Given the description of an element on the screen output the (x, y) to click on. 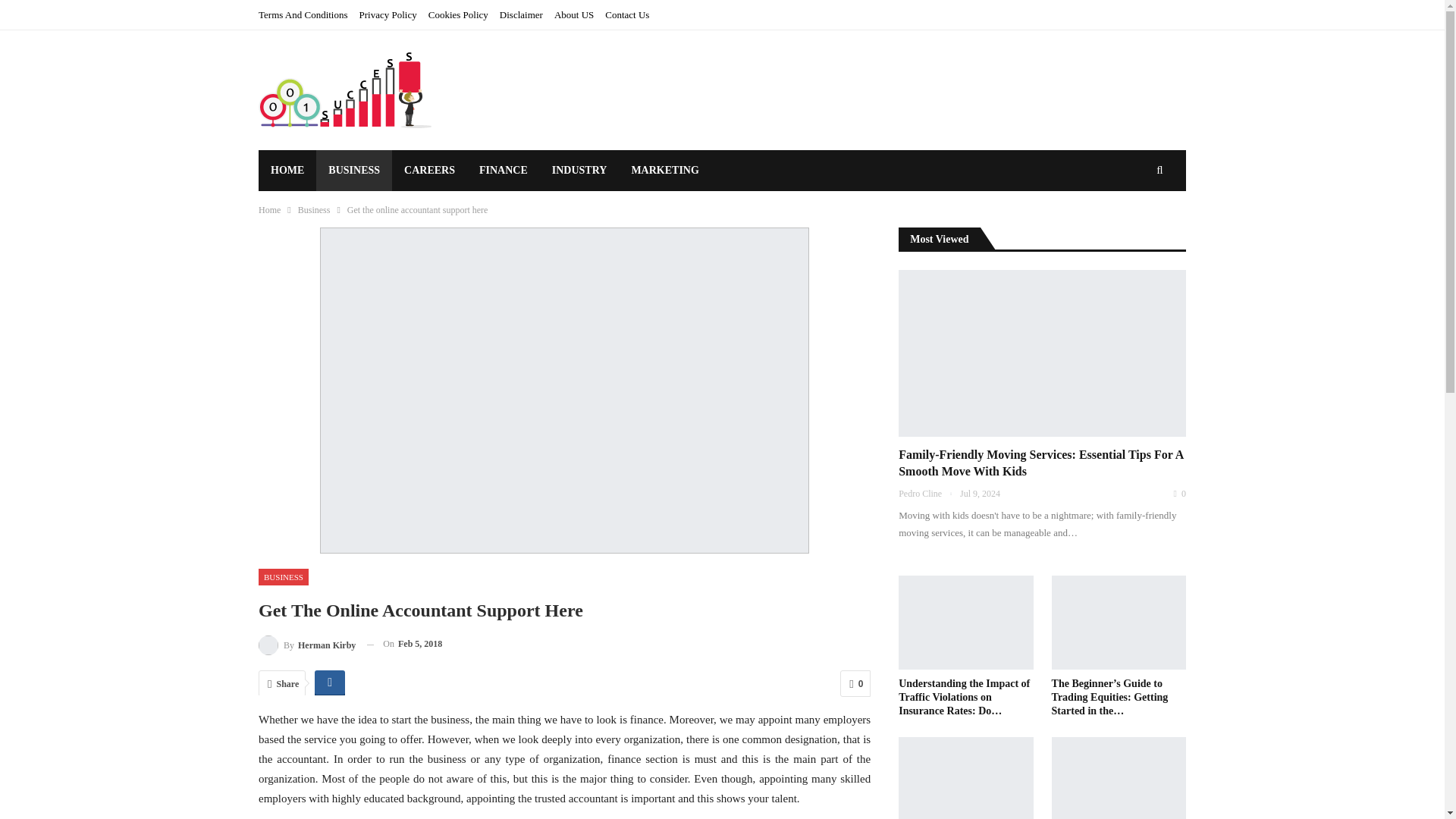
CAREERS (429, 169)
0 (855, 683)
Home (270, 209)
BUSINESS (353, 169)
Cookies Policy (457, 14)
INDUSTRY (580, 169)
Browse Author Articles (307, 643)
Privacy Policy (387, 14)
HOME (287, 169)
Terms And Conditions (303, 14)
